Given the description of an element on the screen output the (x, y) to click on. 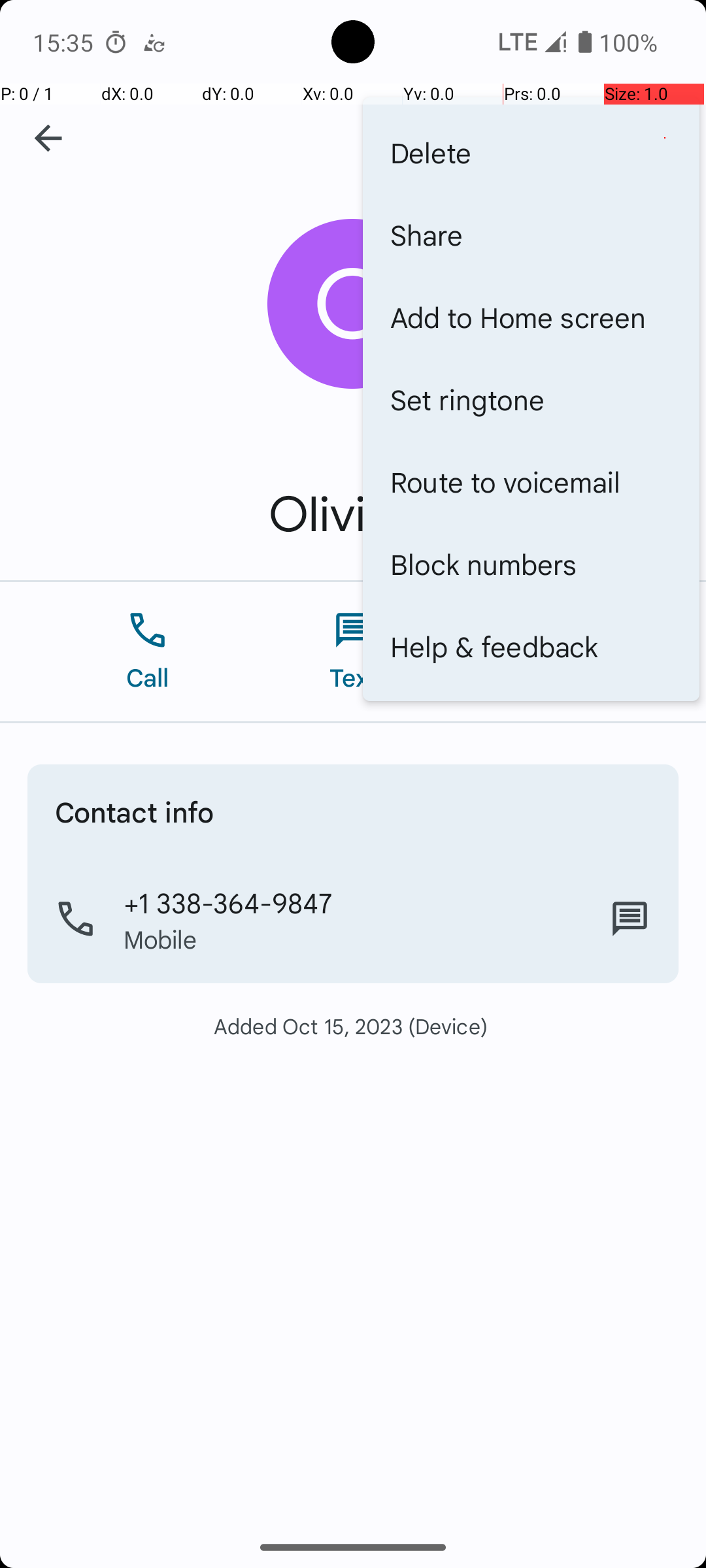
Add to Home screen Element type: android.widget.TextView (531, 316)
Set ringtone Element type: android.widget.TextView (531, 398)
Route to voicemail Element type: android.widget.TextView (531, 481)
Block numbers Element type: android.widget.TextView (531, 563)
